Given the description of an element on the screen output the (x, y) to click on. 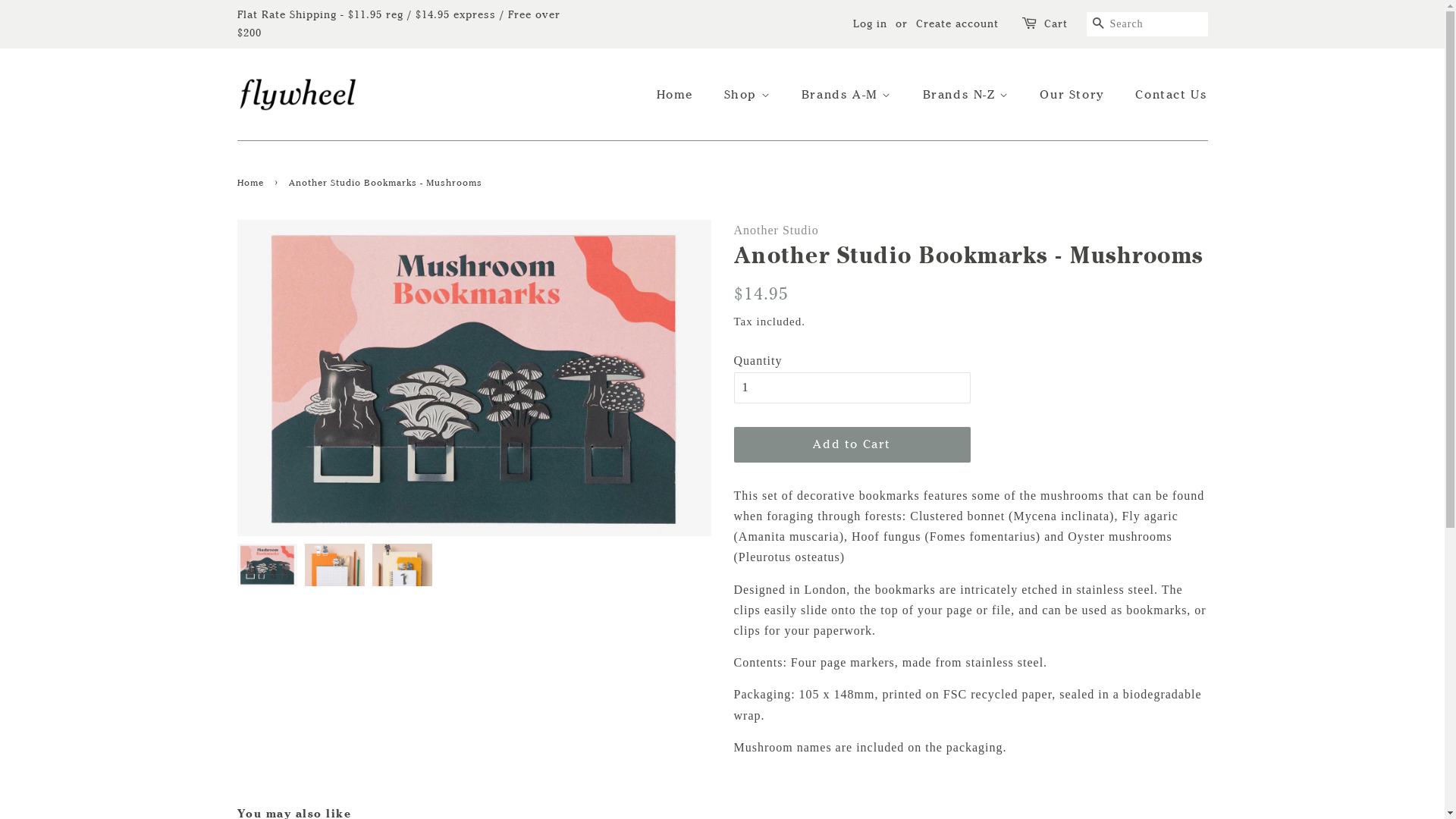
Add to Cart Element type: text (852, 444)
Brands A-M Element type: text (848, 93)
Search Element type: text (1097, 24)
Create account Element type: text (957, 23)
Brands N-Z Element type: text (967, 93)
Another Studio Element type: text (776, 229)
Shop Element type: text (749, 93)
Log in Element type: text (869, 23)
Our Story Element type: text (1073, 93)
Cart Element type: text (1054, 24)
Home Element type: text (251, 182)
Contact Us Element type: text (1165, 93)
Home Element type: text (682, 93)
